Given the description of an element on the screen output the (x, y) to click on. 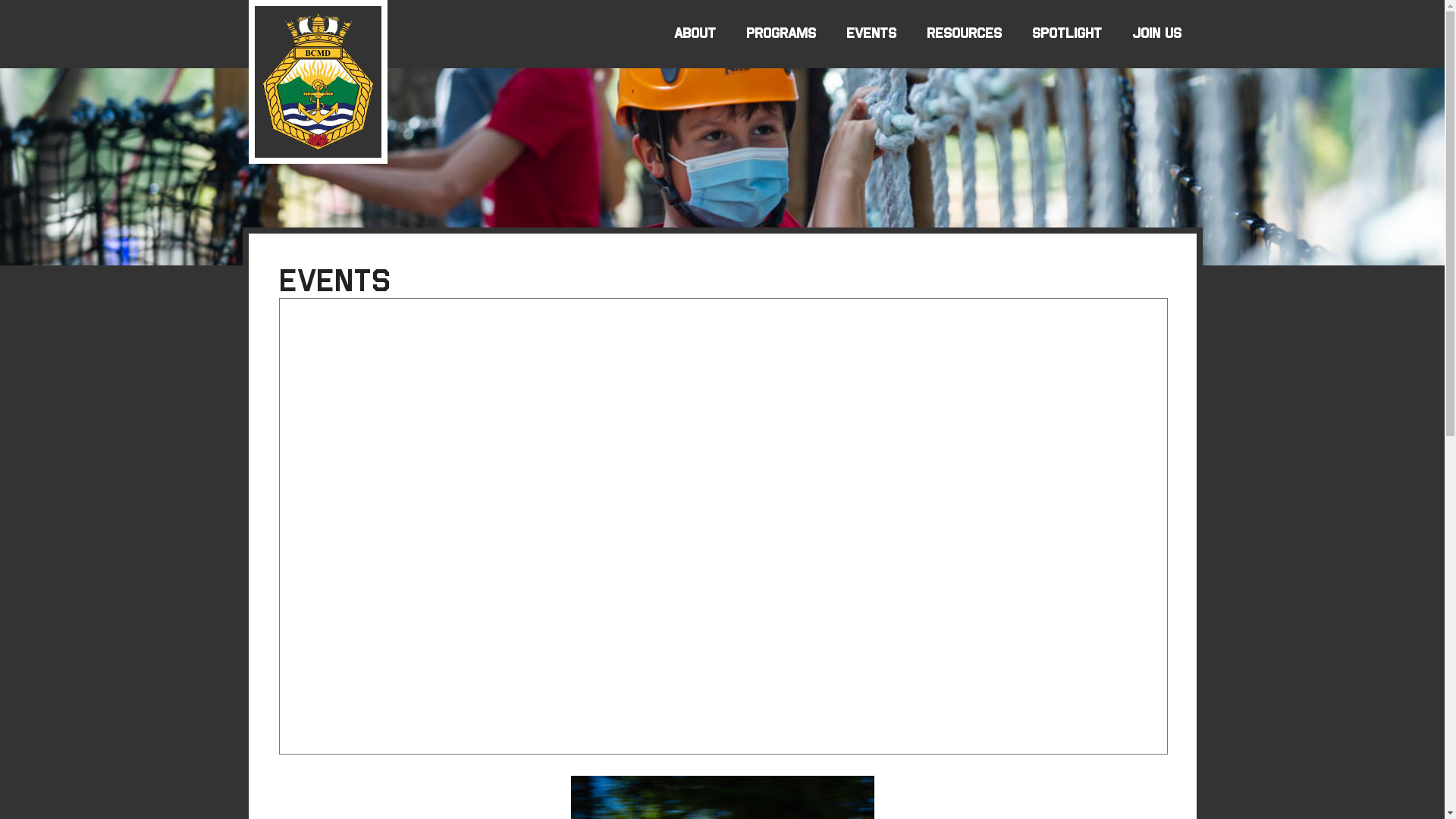
ABOUT Element type: text (694, 34)
RESOURCES Element type: text (963, 34)
EVENTS Element type: text (871, 34)
PROGRAMS Element type: text (780, 34)
SPOTLIGHT Element type: text (1066, 34)
JOIN US Element type: text (1155, 34)
